Given the description of an element on the screen output the (x, y) to click on. 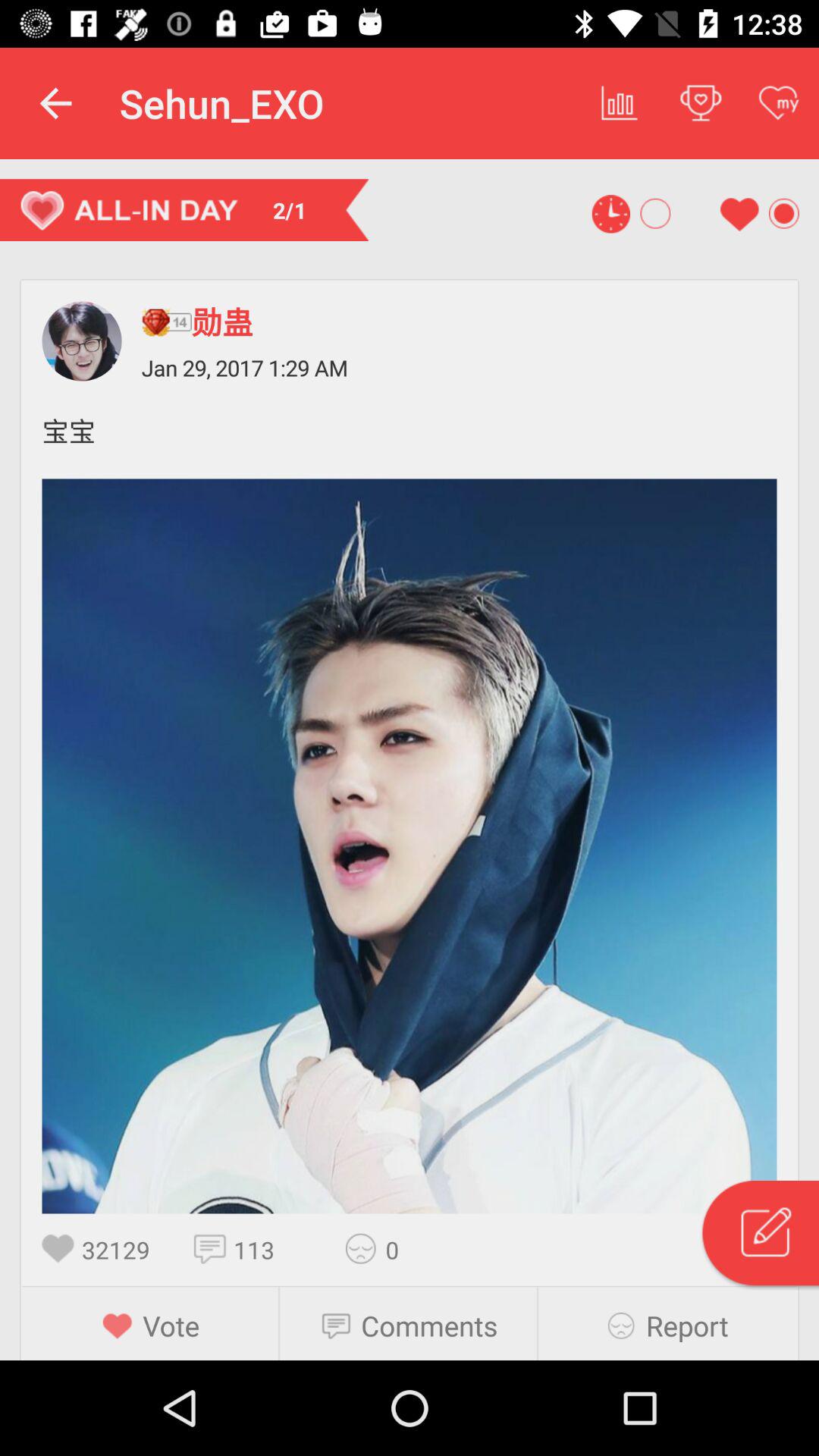
select the item to the right of the 113 icon (365, 1248)
